Given the description of an element on the screen output the (x, y) to click on. 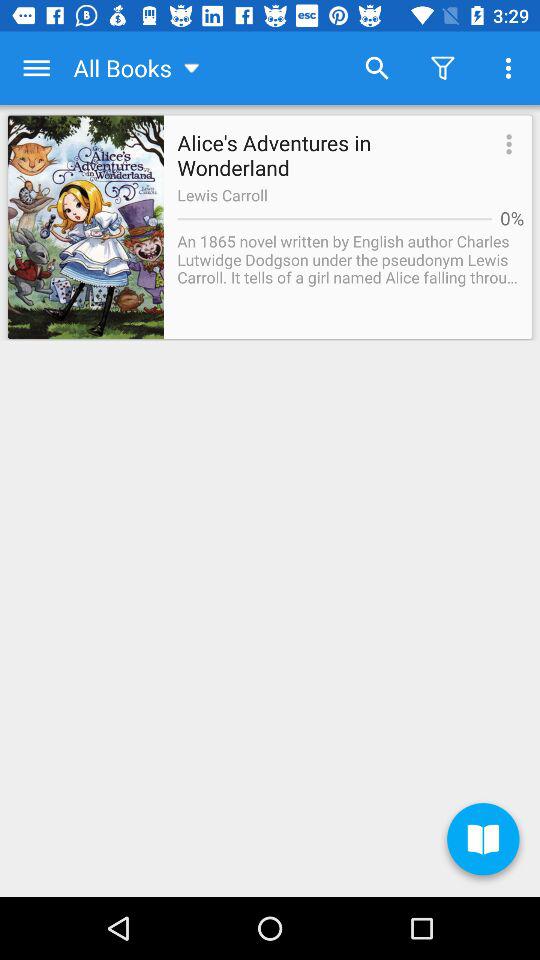
turn on the app below an 1865 novel (483, 842)
